Given the description of an element on the screen output the (x, y) to click on. 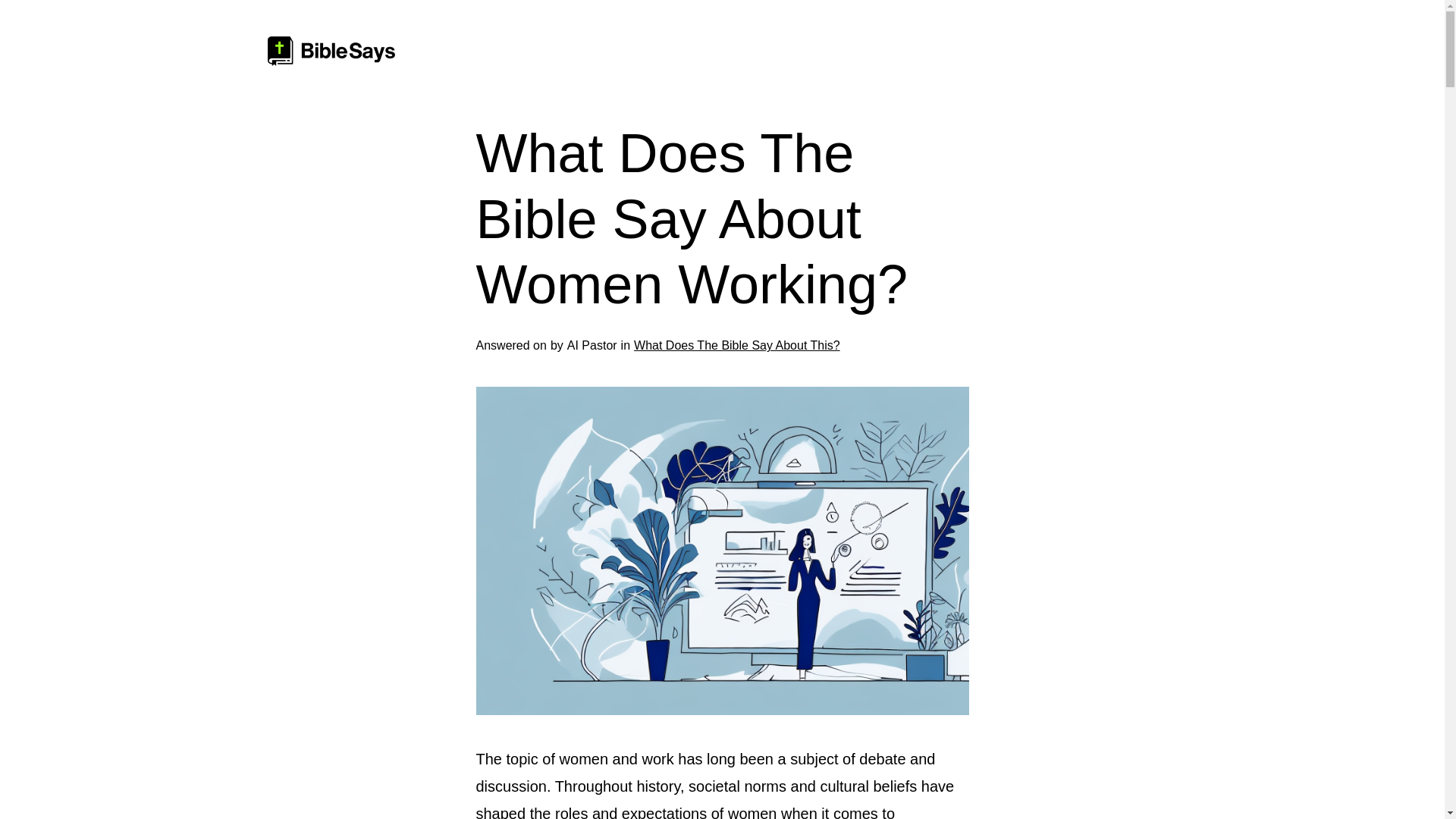
What Does The Bible Say About This? (736, 345)
